Given the description of an element on the screen output the (x, y) to click on. 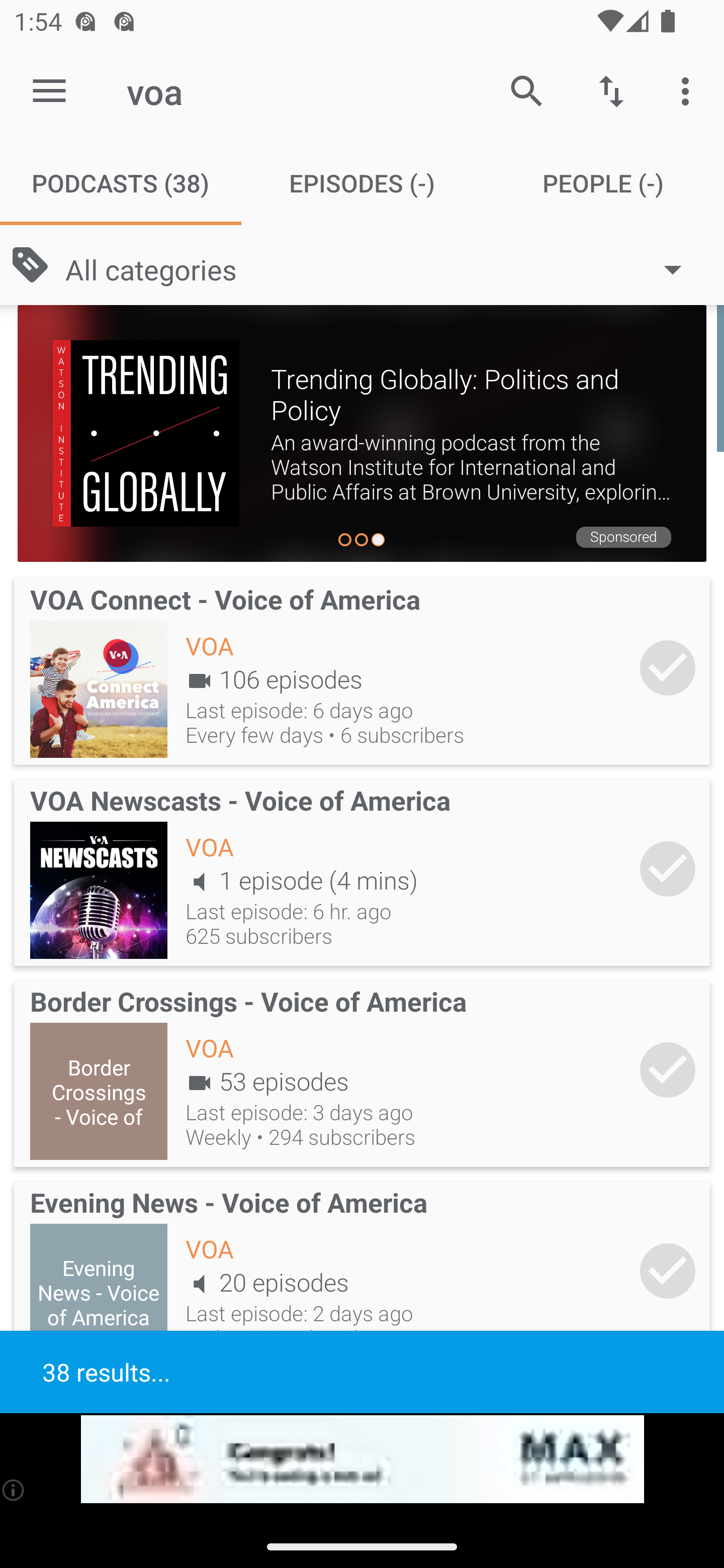
Open navigation sidebar (49, 91)
Search (526, 90)
Sort (611, 90)
More options (688, 90)
Episodes (-) EPISODES (-) (361, 183)
People (-) PEOPLE (-) (603, 183)
All categories (383, 268)
Add (667, 667)
Add (667, 868)
Add (667, 1069)
Add (667, 1271)
app-monetization (362, 1459)
(i) (14, 1489)
